Given the description of an element on the screen output the (x, y) to click on. 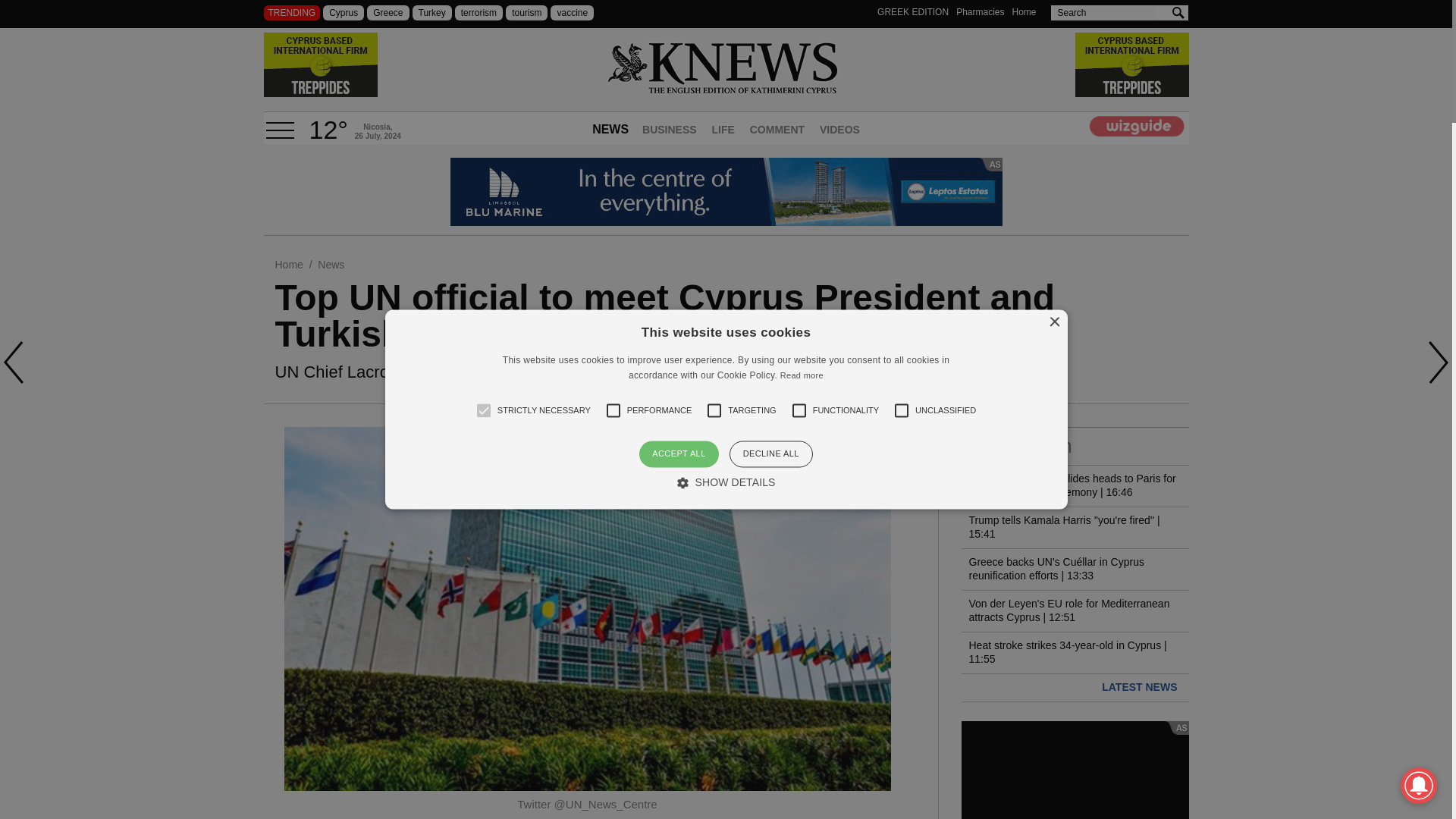
terrorism (478, 12)
BUSINESS (669, 131)
Videos (839, 131)
Cyprus (343, 12)
Comment (777, 131)
News (330, 264)
GREEK EDITION (913, 11)
COMMENT (777, 131)
Greece (387, 12)
Cyprus (343, 12)
Home (1023, 11)
terrorism (478, 12)
Greece (387, 12)
News (330, 264)
tourism (526, 12)
